Given the description of an element on the screen output the (x, y) to click on. 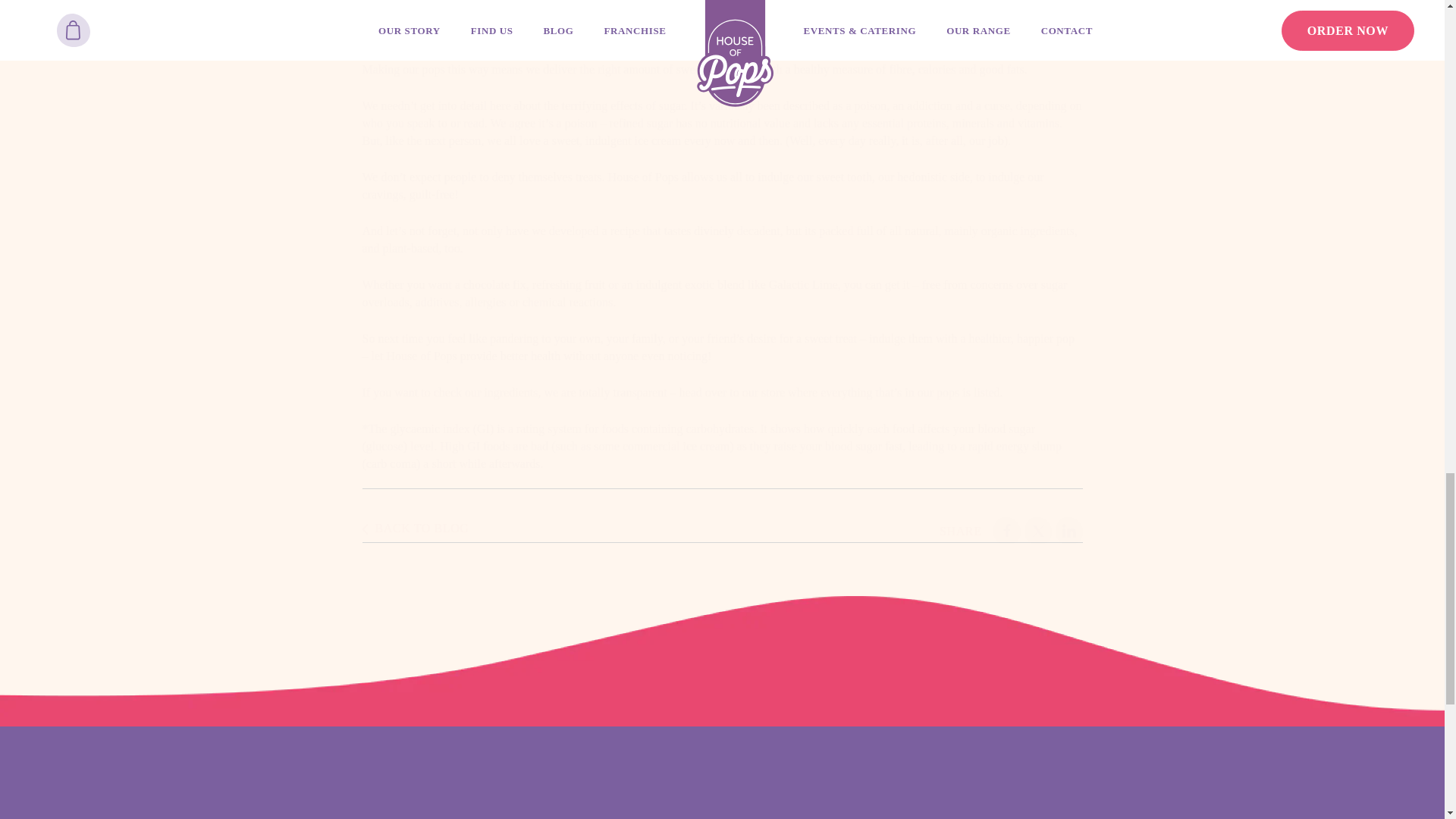
our store (763, 391)
poison (870, 105)
addiction (929, 105)
BACK TO BLOG (415, 531)
BACK TO BLOG (1037, 530)
a curse (1006, 530)
